Given the description of an element on the screen output the (x, y) to click on. 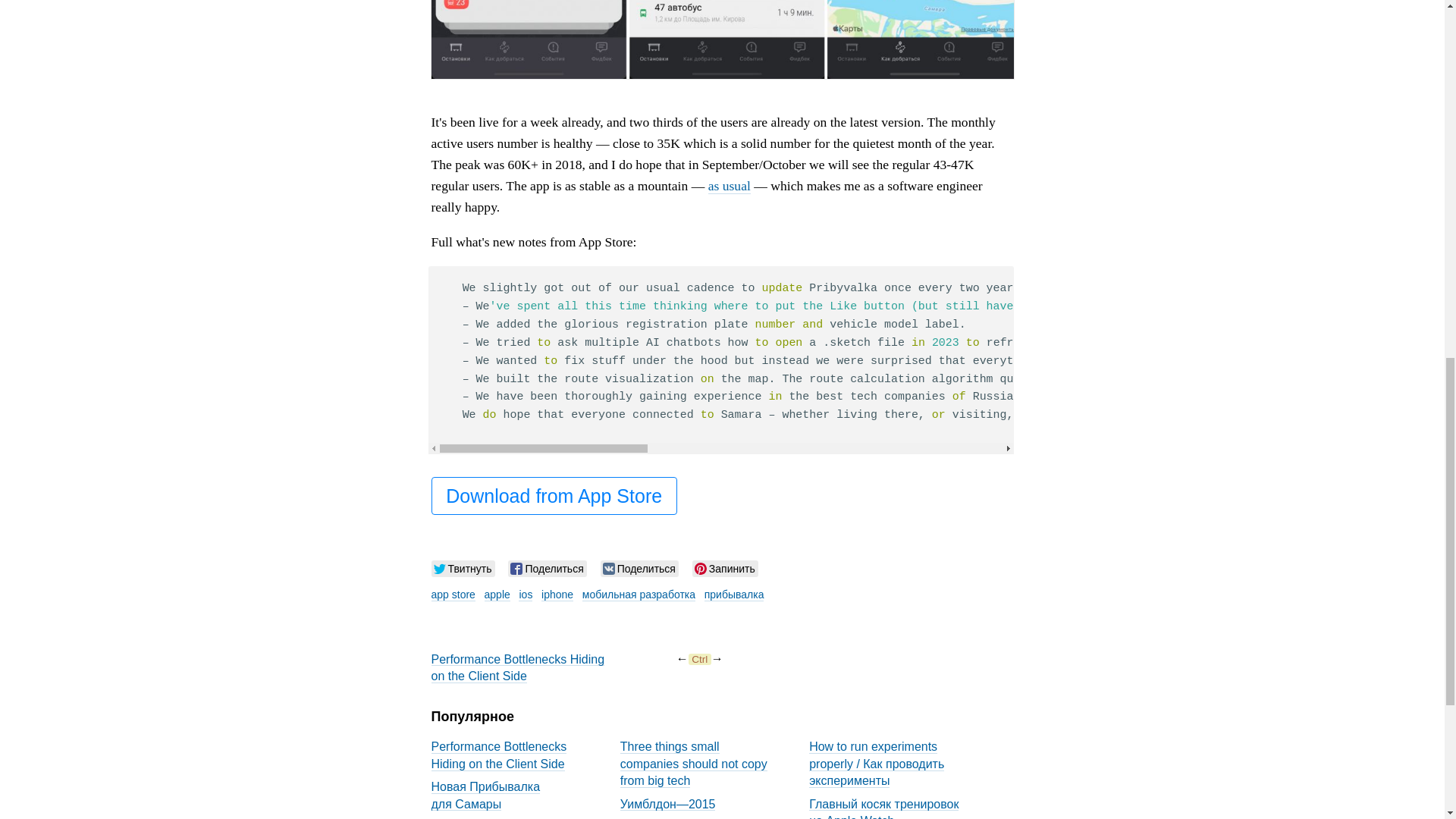
Three things small companies should not copy from big tech (693, 761)
iphone (557, 594)
ios (525, 594)
Performance Bottlenecks Hiding on the Client Side (498, 753)
app store (452, 594)
Download from App Store (553, 495)
Performance Bottlenecks Hiding on the Client Side (517, 666)
as usual (729, 186)
apple (497, 594)
